Given the description of an element on the screen output the (x, y) to click on. 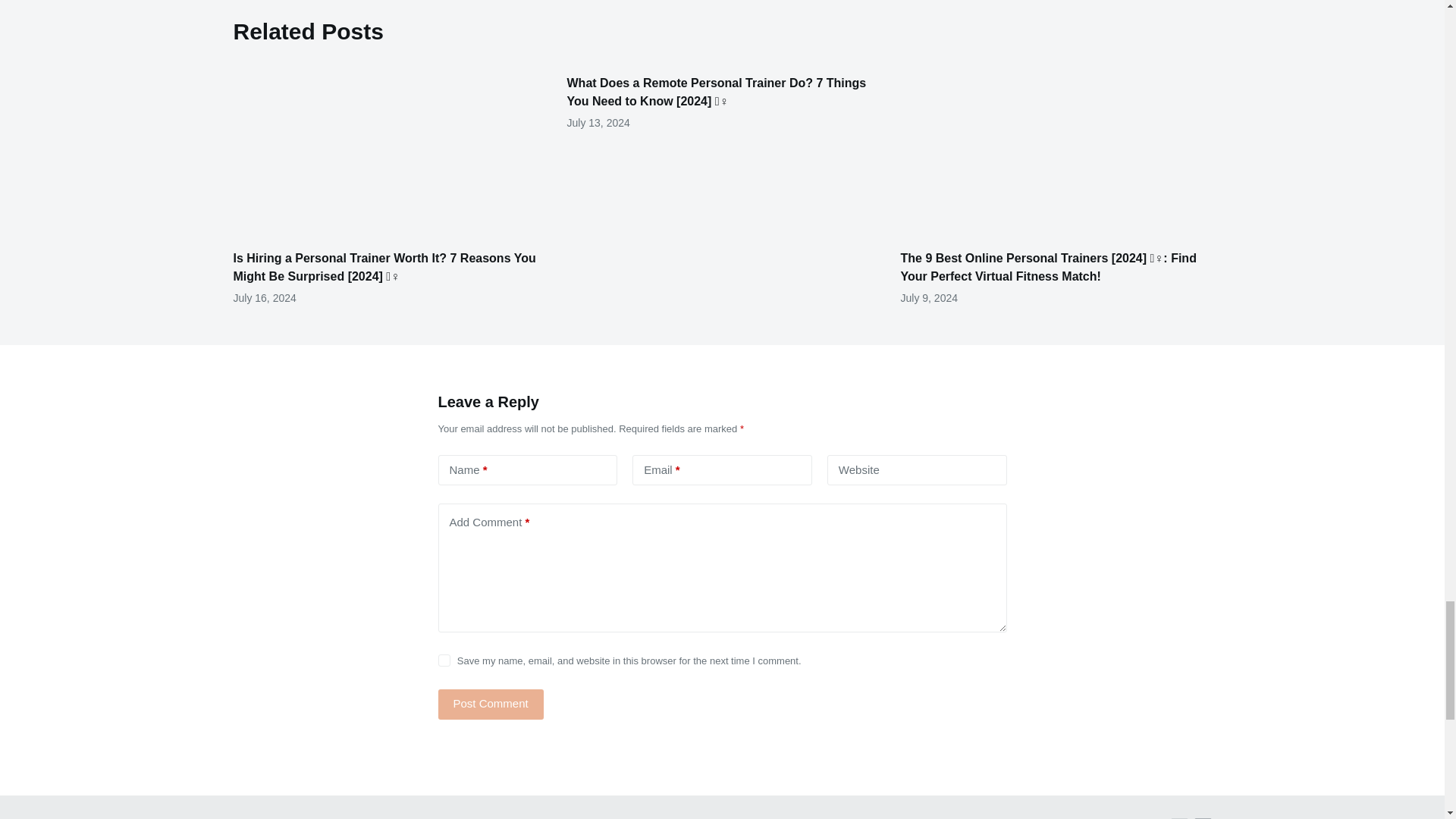
yes (443, 660)
